Given the description of an element on the screen output the (x, y) to click on. 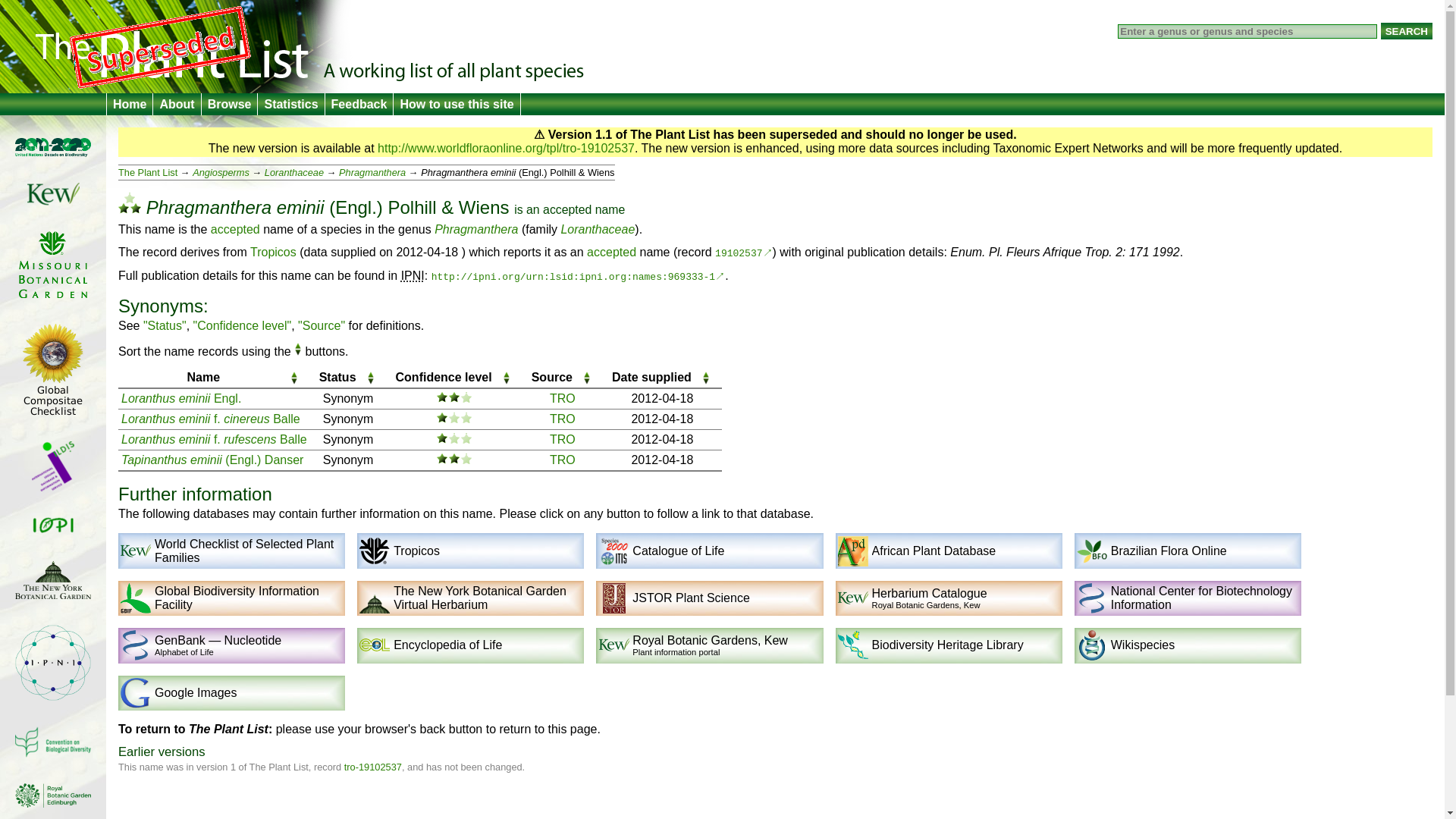
TRO (562, 418)
Phragmanthera (475, 228)
"Source" (321, 325)
"Status" (164, 325)
Search (1406, 30)
The Plant List (147, 172)
Loranthus eminii f. cinereus Balle (209, 418)
accepted (611, 251)
Loranthus eminii Engl. (180, 398)
Loranthaceae (293, 172)
Angiosperms (220, 172)
Browse (229, 104)
Tropicos (273, 251)
Search (1406, 30)
Loranthaceae (597, 228)
